Given the description of an element on the screen output the (x, y) to click on. 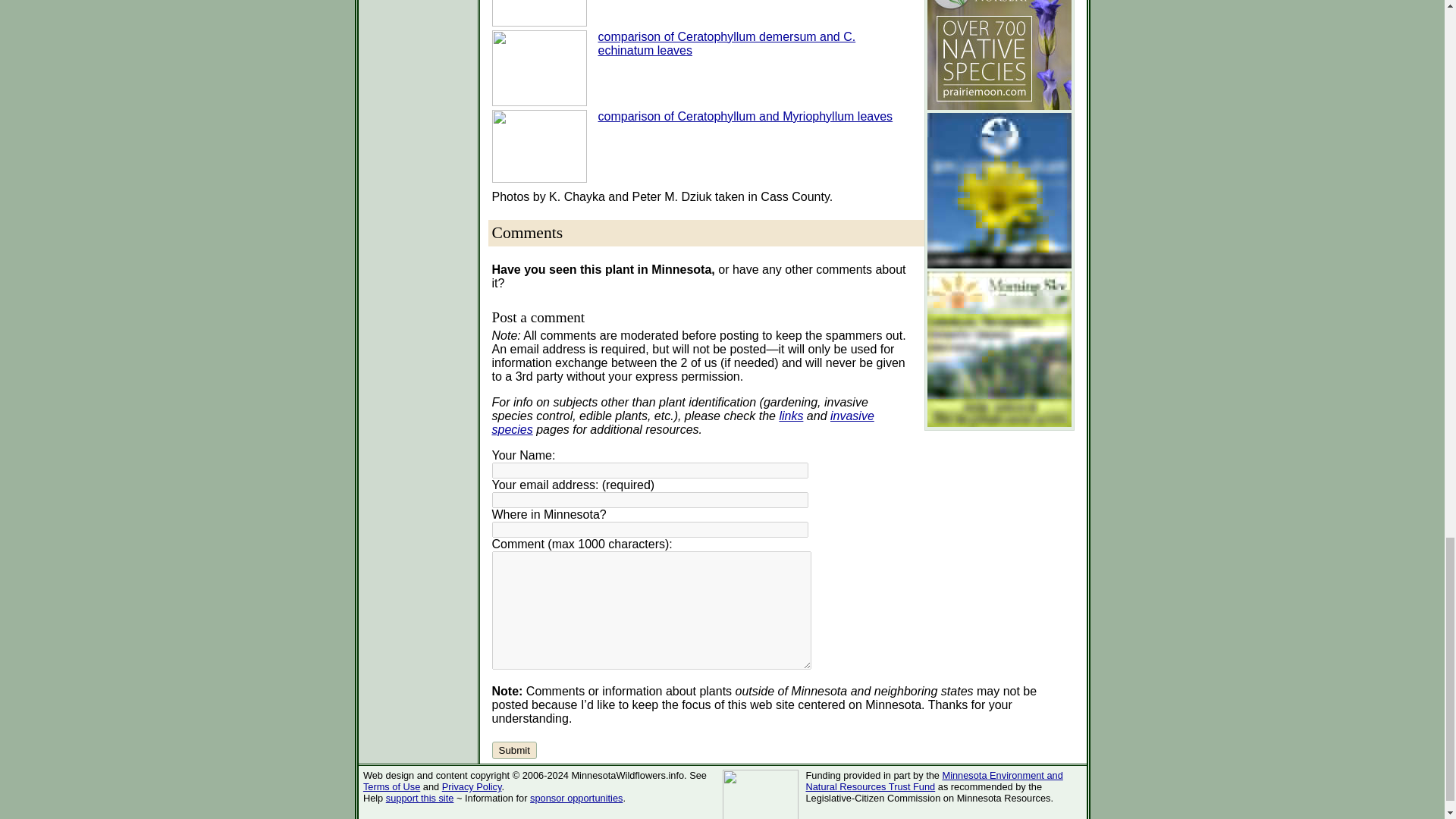
Submit (513, 750)
Submit (513, 750)
links (790, 415)
comparison of Ceratophyllum and Myriophyllum leaves (744, 115)
invasive species (682, 422)
comparison of Ceratophyllum demersum and C. echinatum leaves (726, 43)
